Given the description of an element on the screen output the (x, y) to click on. 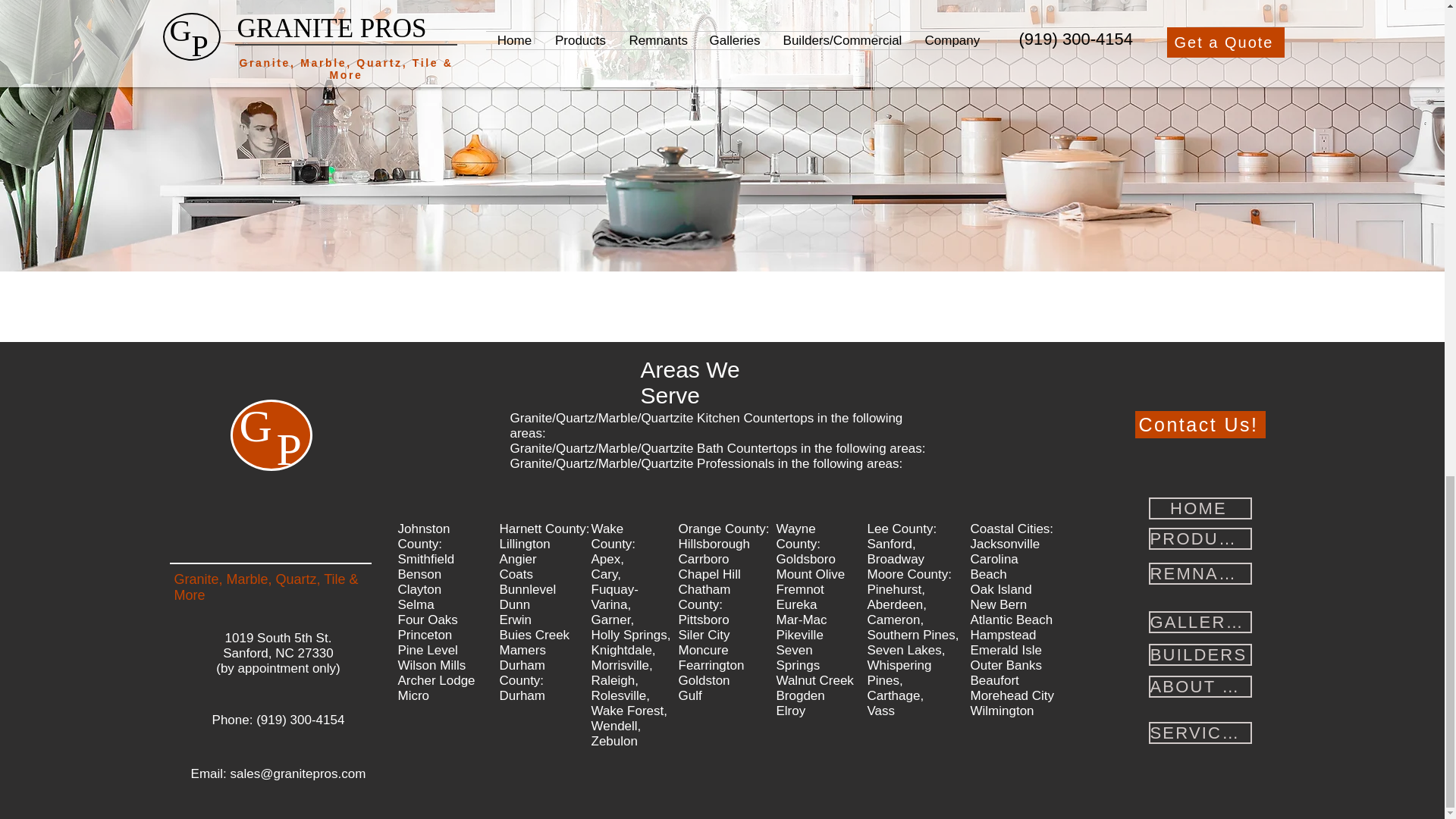
Contact Us! (1199, 424)
BUILDERS (1199, 654)
ABOUT US (1199, 686)
REMNANTS (1199, 573)
HOME (1199, 508)
SERVICES (1199, 732)
PRODUCTS (1199, 538)
GALLERIES (1199, 621)
